Given the description of an element on the screen output the (x, y) to click on. 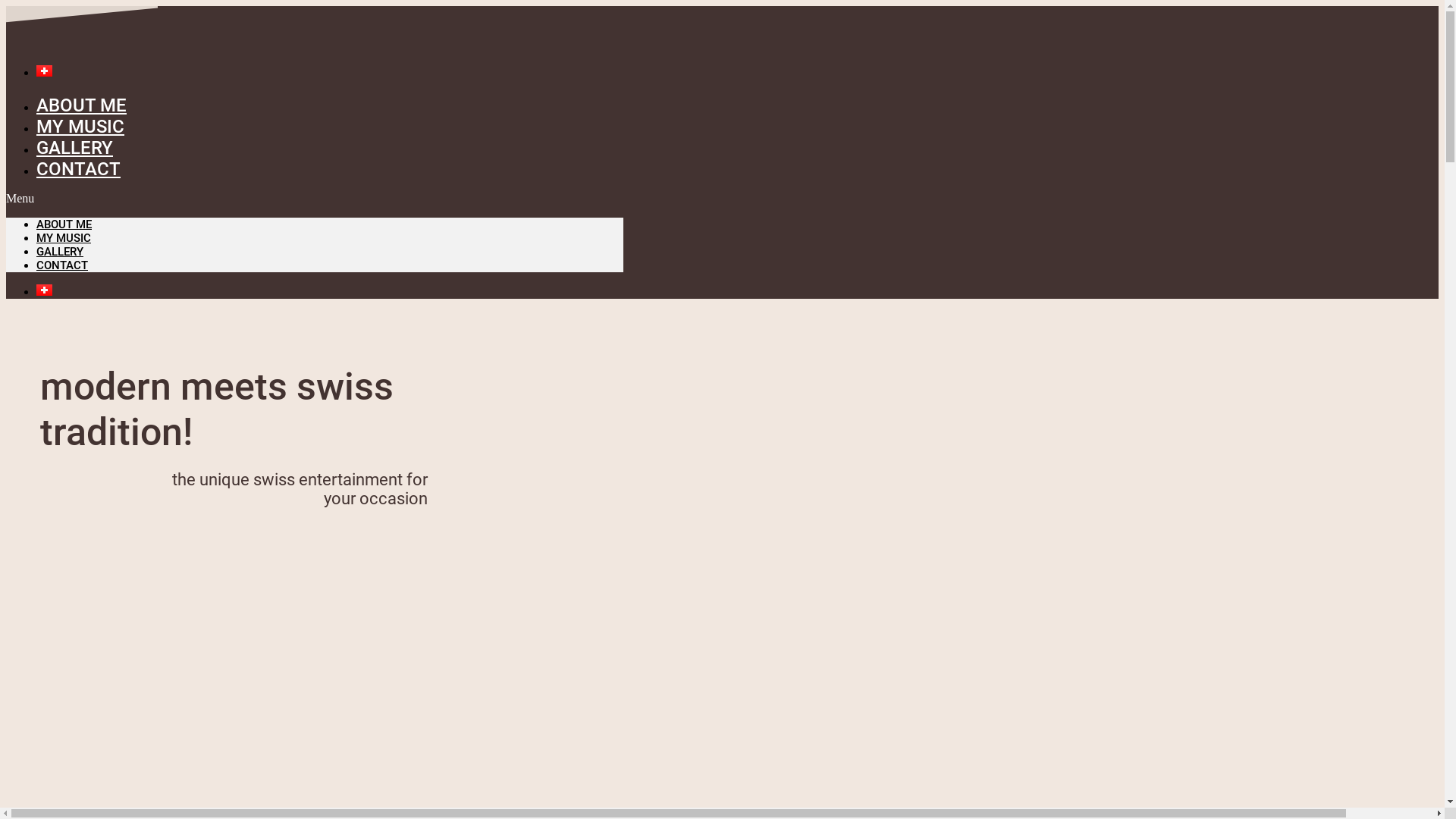
GALLERY Element type: text (59, 251)
GALLERY Element type: text (74, 147)
ABOUT ME Element type: text (63, 224)
CONTACT Element type: text (61, 265)
MY MUSIC Element type: text (63, 237)
ABOUT ME Element type: text (81, 105)
CONTACT Element type: text (78, 169)
MY MUSIC Element type: text (80, 126)
